Given the description of an element on the screen output the (x, y) to click on. 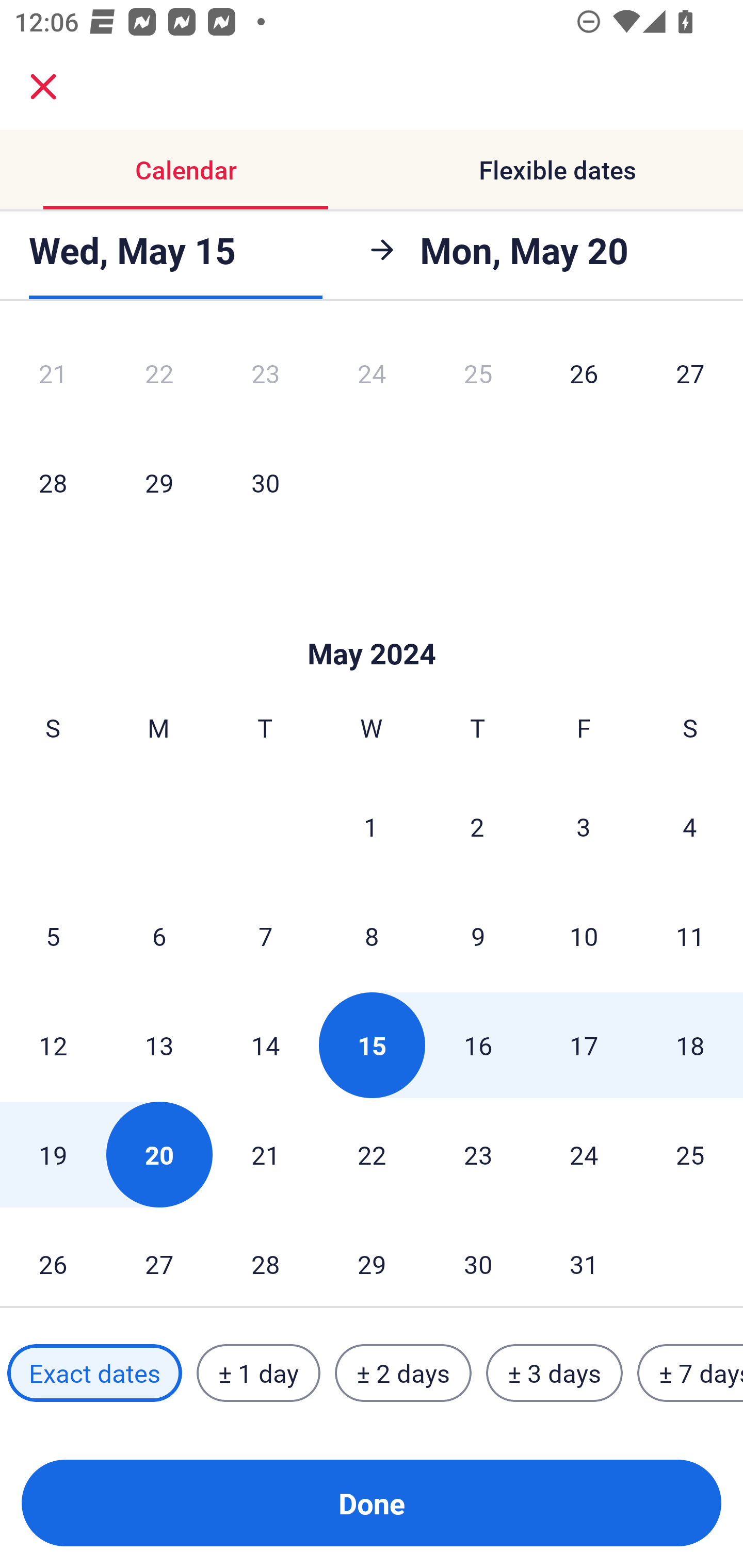
close. (43, 86)
Flexible dates (557, 170)
21 Sunday, April 21, 2024 (53, 378)
22 Monday, April 22, 2024 (159, 378)
23 Tuesday, April 23, 2024 (265, 378)
24 Wednesday, April 24, 2024 (371, 378)
25 Thursday, April 25, 2024 (477, 378)
26 Friday, April 26, 2024 (584, 378)
27 Saturday, April 27, 2024 (690, 378)
28 Sunday, April 28, 2024 (53, 481)
29 Monday, April 29, 2024 (159, 481)
30 Tuesday, April 30, 2024 (265, 481)
Skip to Done (371, 623)
1 Wednesday, May 1, 2024 (371, 826)
2 Thursday, May 2, 2024 (477, 826)
3 Friday, May 3, 2024 (583, 826)
4 Saturday, May 4, 2024 (689, 826)
5 Sunday, May 5, 2024 (53, 935)
6 Monday, May 6, 2024 (159, 935)
7 Tuesday, May 7, 2024 (265, 935)
8 Wednesday, May 8, 2024 (371, 935)
9 Thursday, May 9, 2024 (477, 935)
10 Friday, May 10, 2024 (584, 935)
11 Saturday, May 11, 2024 (690, 935)
12 Sunday, May 12, 2024 (53, 1044)
13 Monday, May 13, 2024 (159, 1044)
14 Tuesday, May 14, 2024 (265, 1044)
21 Tuesday, May 21, 2024 (265, 1154)
22 Wednesday, May 22, 2024 (371, 1154)
23 Thursday, May 23, 2024 (477, 1154)
24 Friday, May 24, 2024 (584, 1154)
25 Saturday, May 25, 2024 (690, 1154)
26 Sunday, May 26, 2024 (53, 1258)
27 Monday, May 27, 2024 (159, 1258)
28 Tuesday, May 28, 2024 (265, 1258)
29 Wednesday, May 29, 2024 (371, 1258)
30 Thursday, May 30, 2024 (477, 1258)
31 Friday, May 31, 2024 (584, 1258)
Exact dates (94, 1372)
± 1 day (258, 1372)
± 2 days (403, 1372)
± 3 days (553, 1372)
± 7 days (690, 1372)
Done (371, 1502)
